Given the description of an element on the screen output the (x, y) to click on. 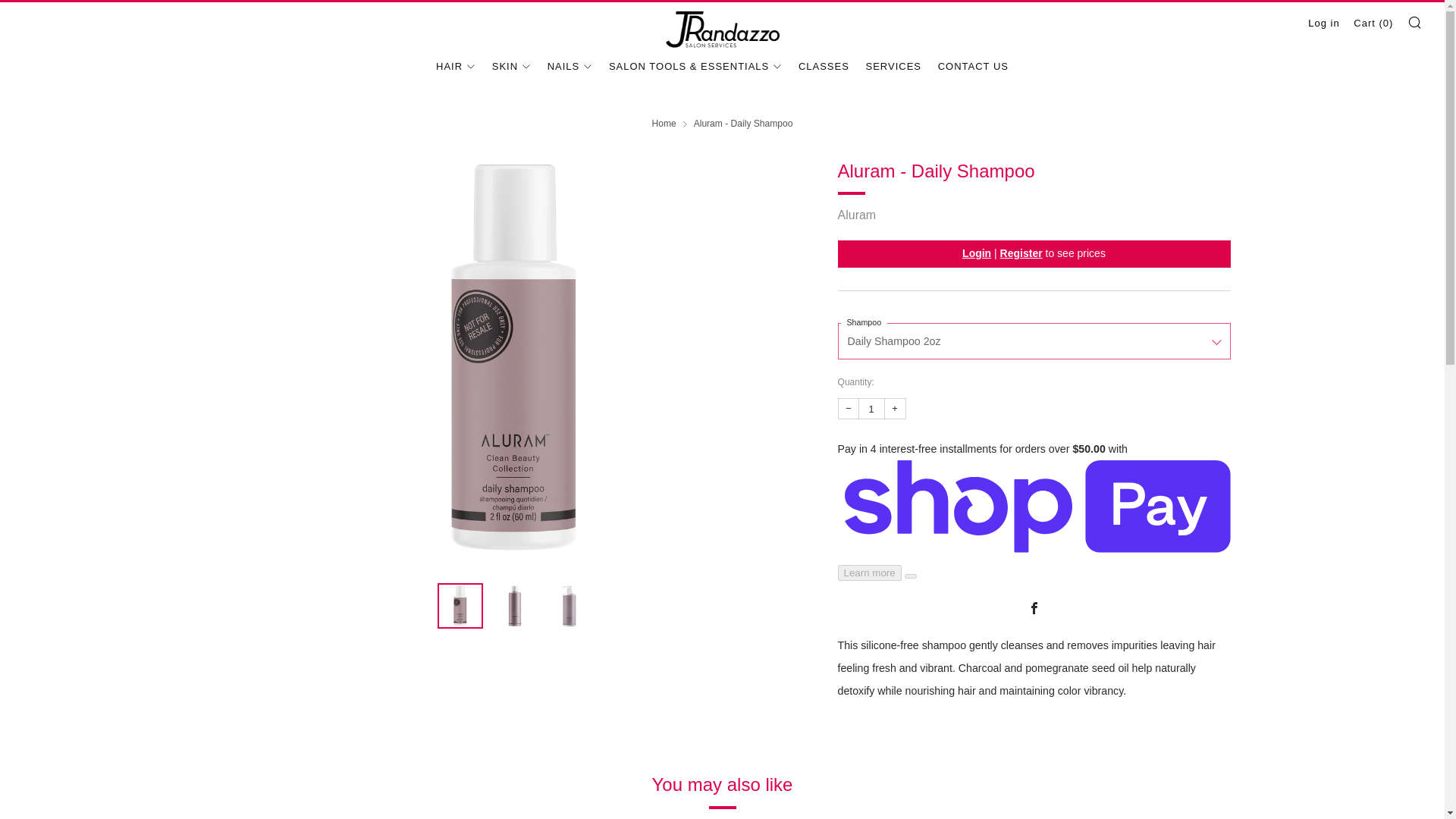
Home (664, 122)
1 (872, 408)
Aluram (856, 214)
